Given the description of an element on the screen output the (x, y) to click on. 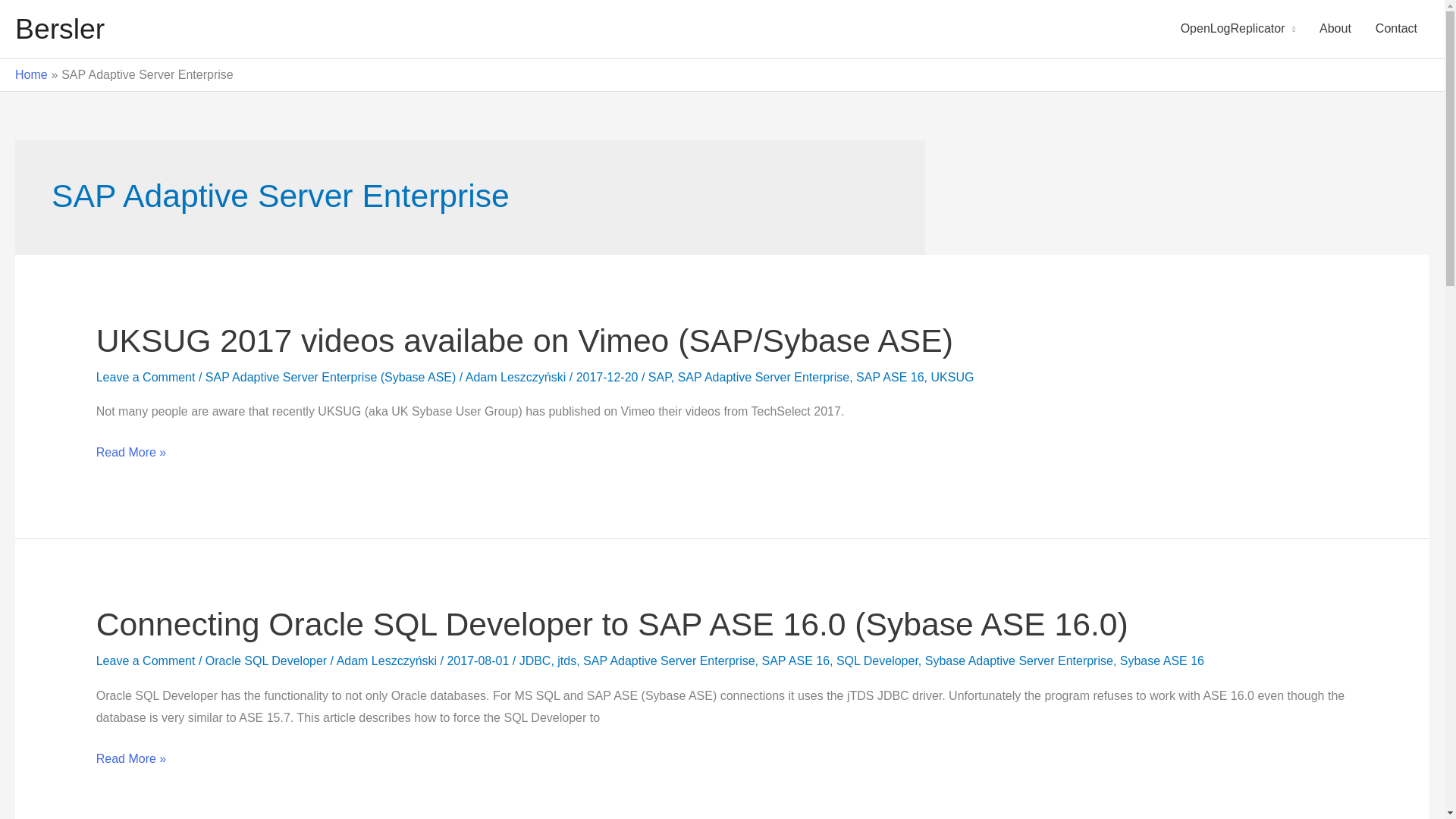
jtds (566, 660)
UKSUG (952, 377)
Home (31, 74)
JDBC (535, 660)
SAP ASE 16 (890, 377)
SAP (659, 377)
SQL Developer (876, 660)
Sybase Adaptive Server Enterprise (1018, 660)
Bersler (59, 29)
Leave a Comment (145, 660)
